Given the description of an element on the screen output the (x, y) to click on. 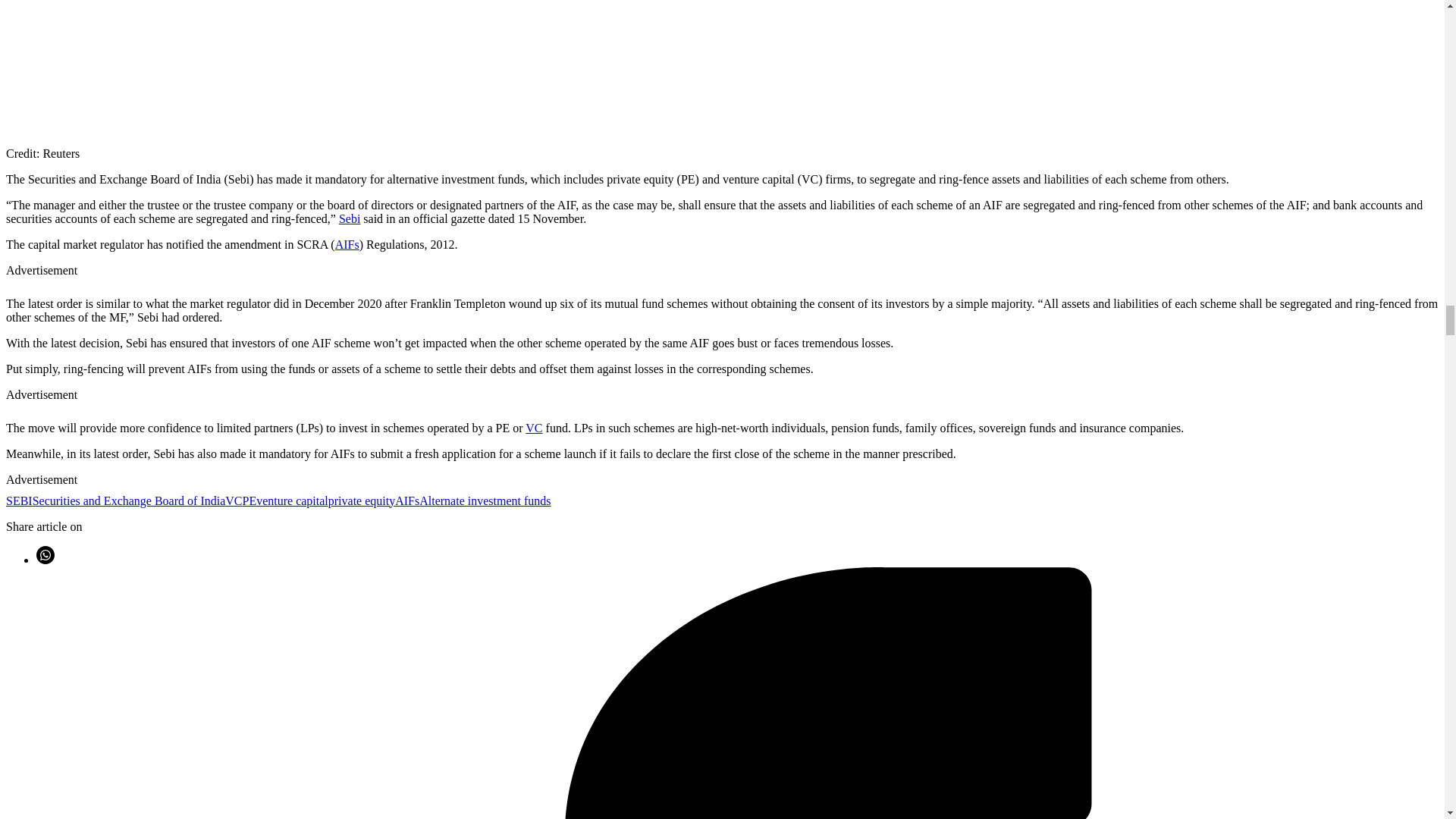
SEBI (18, 500)
Securities and Exchange Board of India (128, 500)
private equity (361, 500)
Sebi (349, 218)
VC (533, 427)
VC (233, 500)
AIFs (346, 244)
Alternate investment funds (484, 500)
venture capital (292, 500)
PE (248, 500)
AIFs (406, 500)
